Given the description of an element on the screen output the (x, y) to click on. 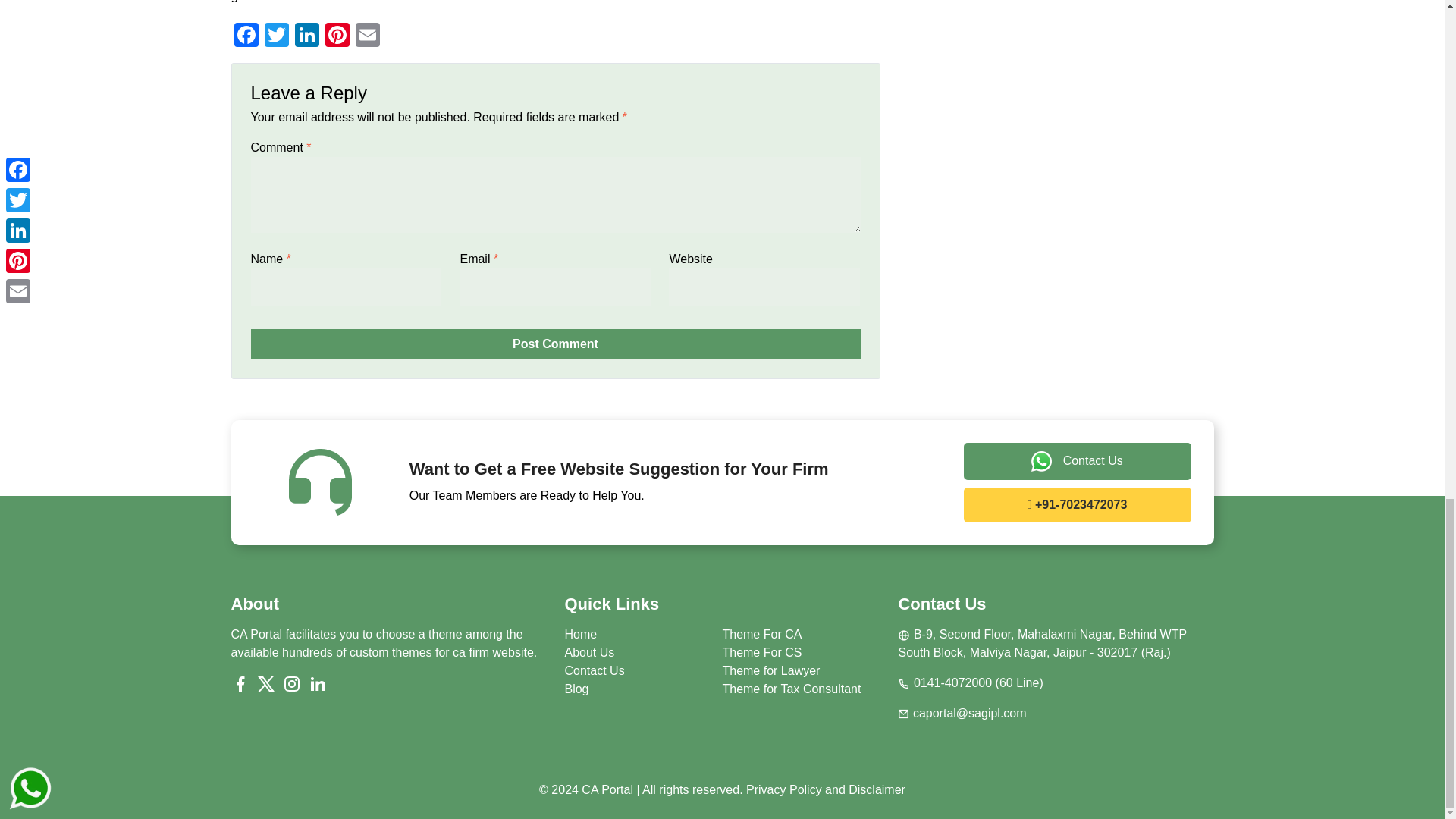
Pinterest (336, 36)
Facebook (245, 36)
Email (366, 36)
Pinterest (336, 36)
Post Comment (555, 344)
Email (366, 36)
Facebook (245, 36)
LinkedIn (306, 36)
LinkedIn (306, 36)
Twitter (275, 36)
